Given the description of an element on the screen output the (x, y) to click on. 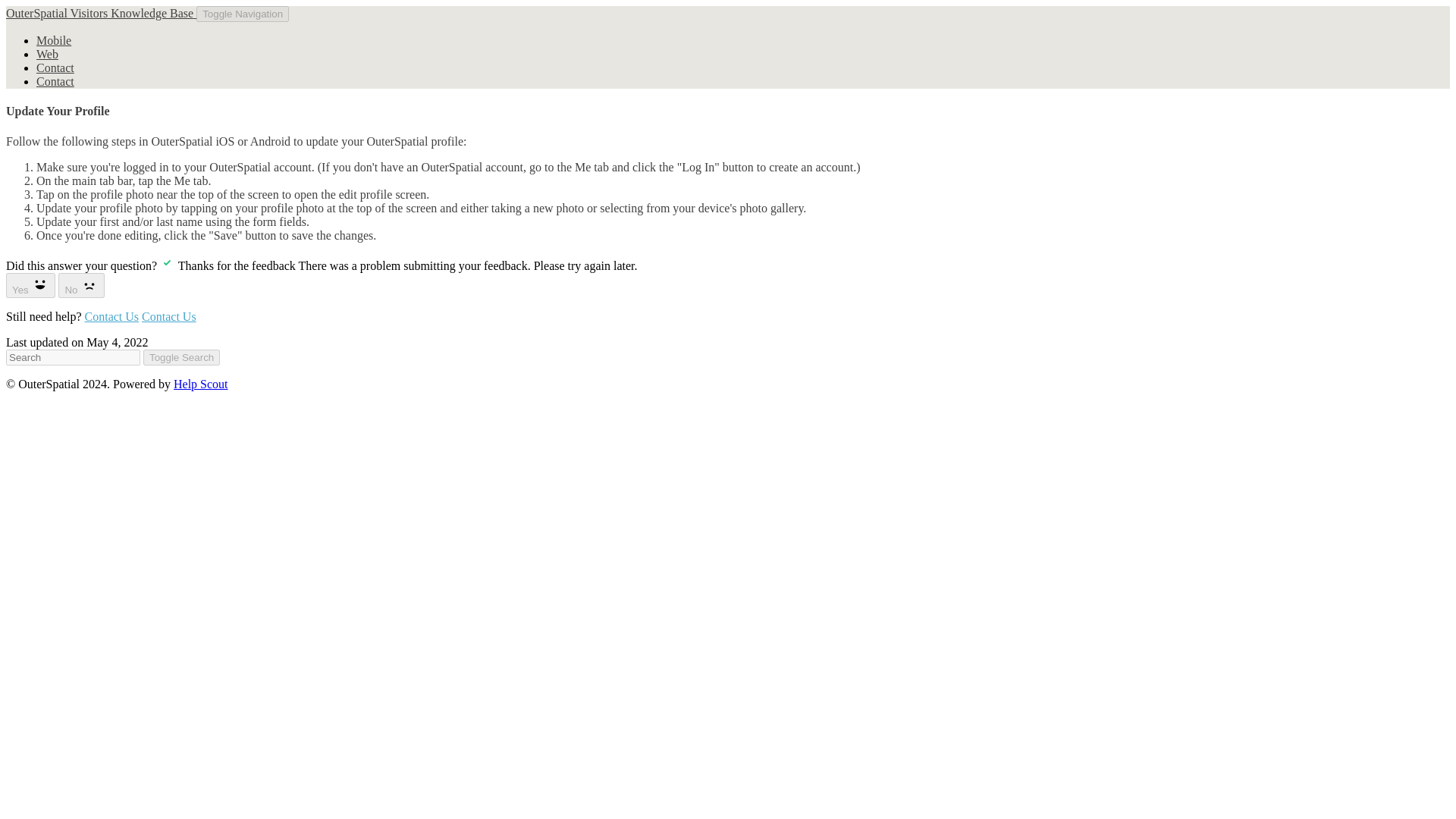
search-query (72, 357)
Yes (30, 285)
Web (47, 53)
Contact Us (111, 316)
Contact (55, 81)
Contact Us (168, 316)
Mobile (53, 40)
Toggle Navigation (242, 13)
Toggle Search (180, 357)
OuterSpatial Visitors Knowledge Base (100, 12)
Contact (55, 67)
No (81, 285)
